Given the description of an element on the screen output the (x, y) to click on. 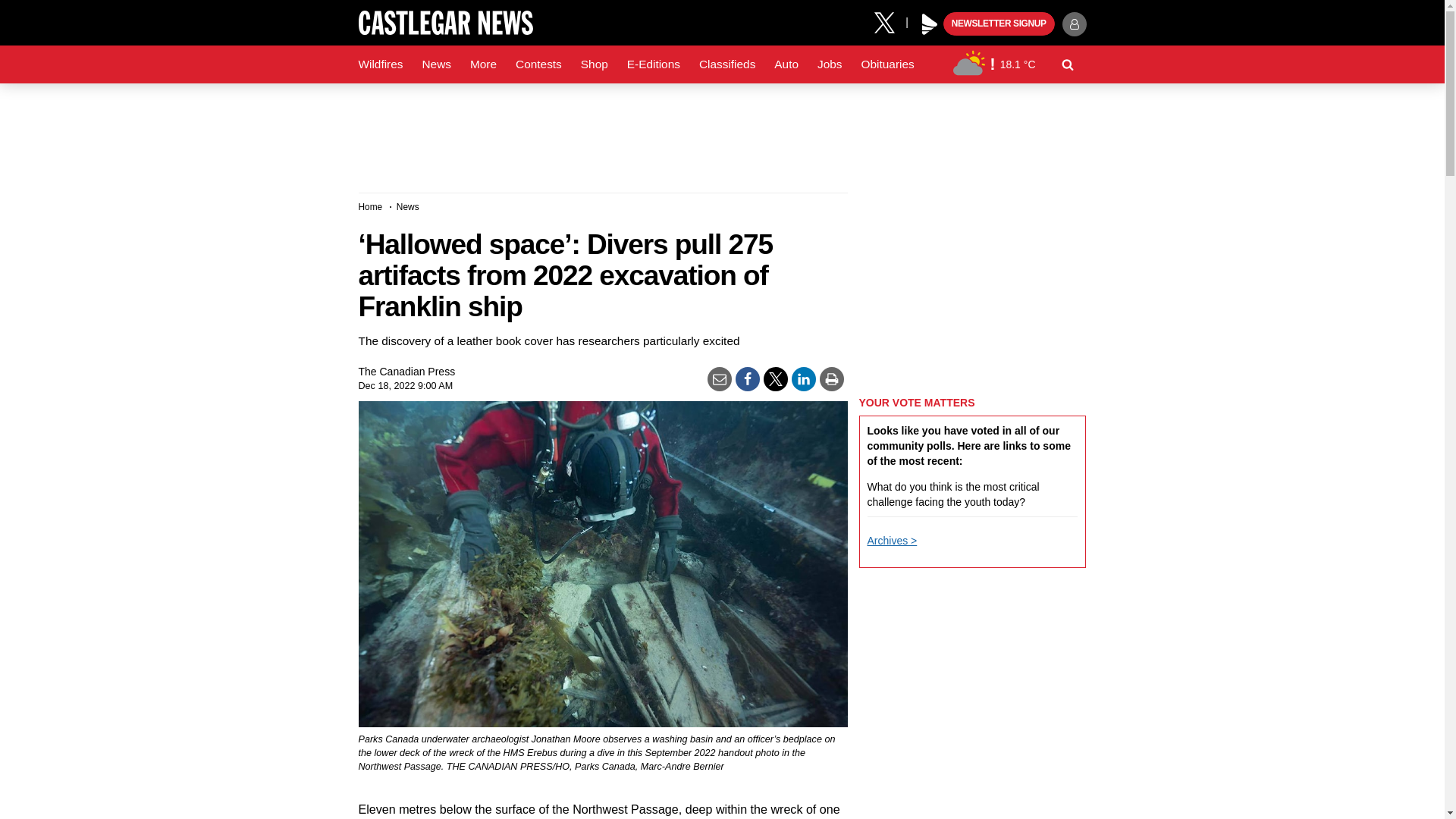
X (889, 21)
NEWSLETTER SIGNUP (998, 24)
Play (929, 24)
Black Press Media (929, 24)
News (435, 64)
Wildfires (380, 64)
